Given the description of an element on the screen output the (x, y) to click on. 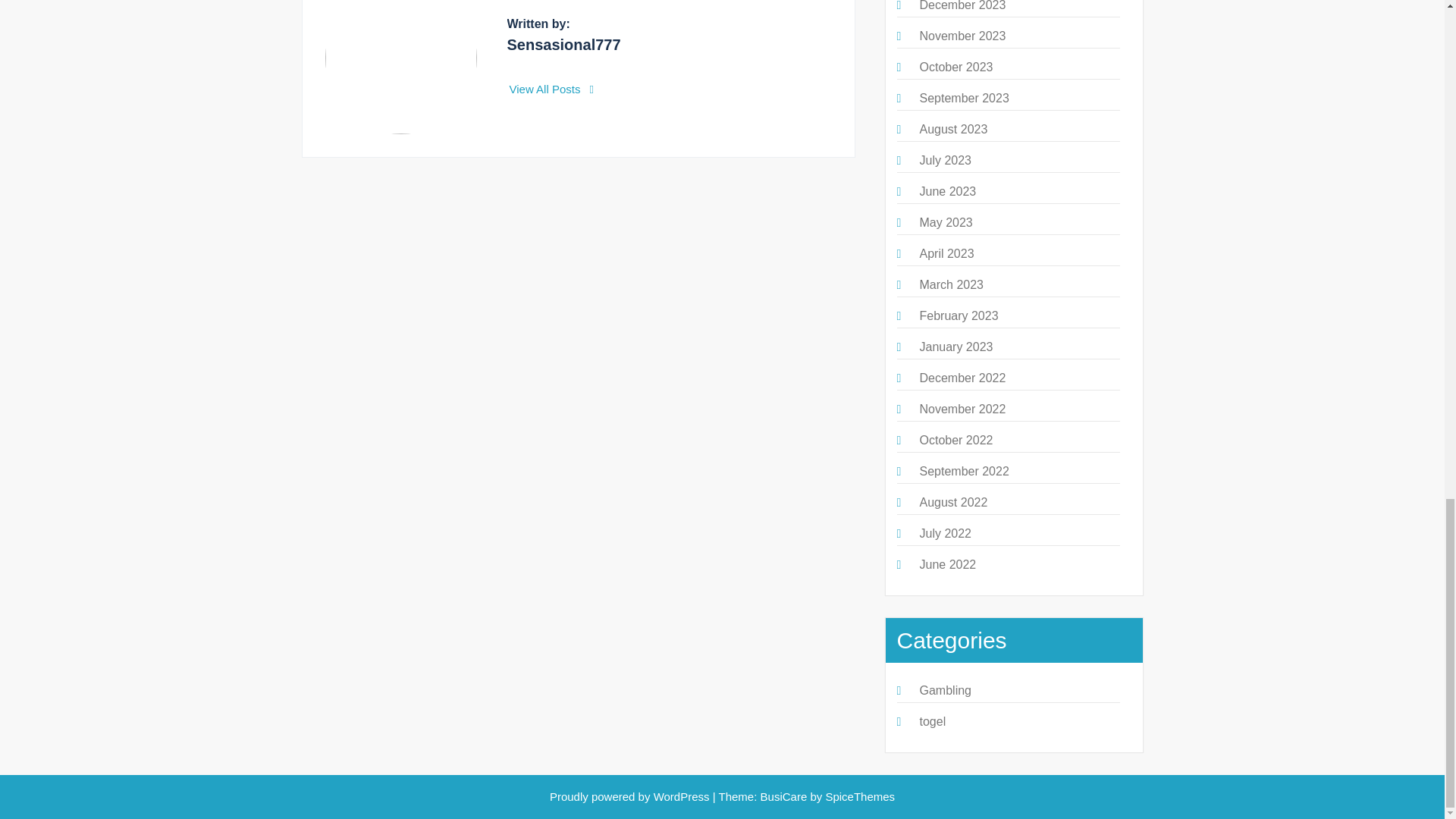
July 2023 (944, 160)
June 2023 (946, 191)
April 2023 (946, 253)
November 2023 (962, 35)
October 2022 (955, 440)
September 2023 (963, 97)
March 2023 (951, 284)
November 2022 (962, 408)
View All Posts (551, 88)
February 2023 (957, 315)
October 2023 (955, 66)
December 2023 (962, 5)
December 2022 (962, 377)
May 2023 (945, 222)
January 2023 (955, 346)
